Given the description of an element on the screen output the (x, y) to click on. 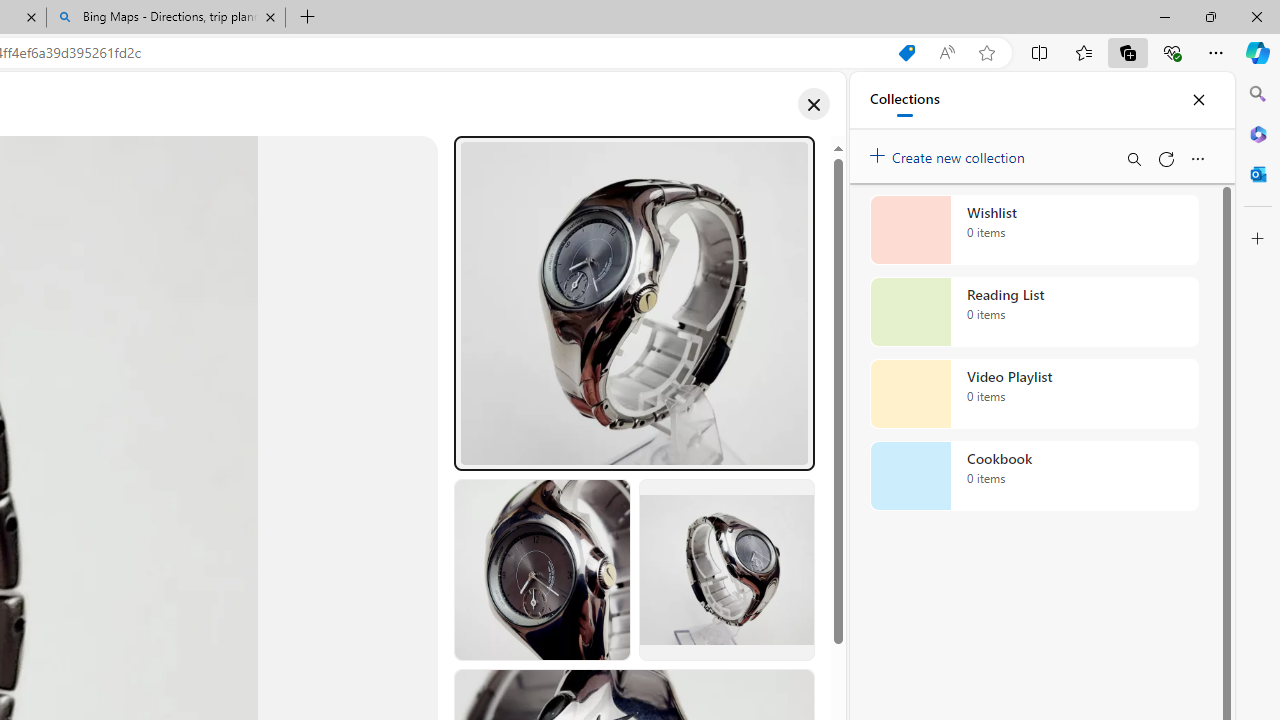
Wishlist collection, 0 items (1034, 229)
